Given the description of an element on the screen output the (x, y) to click on. 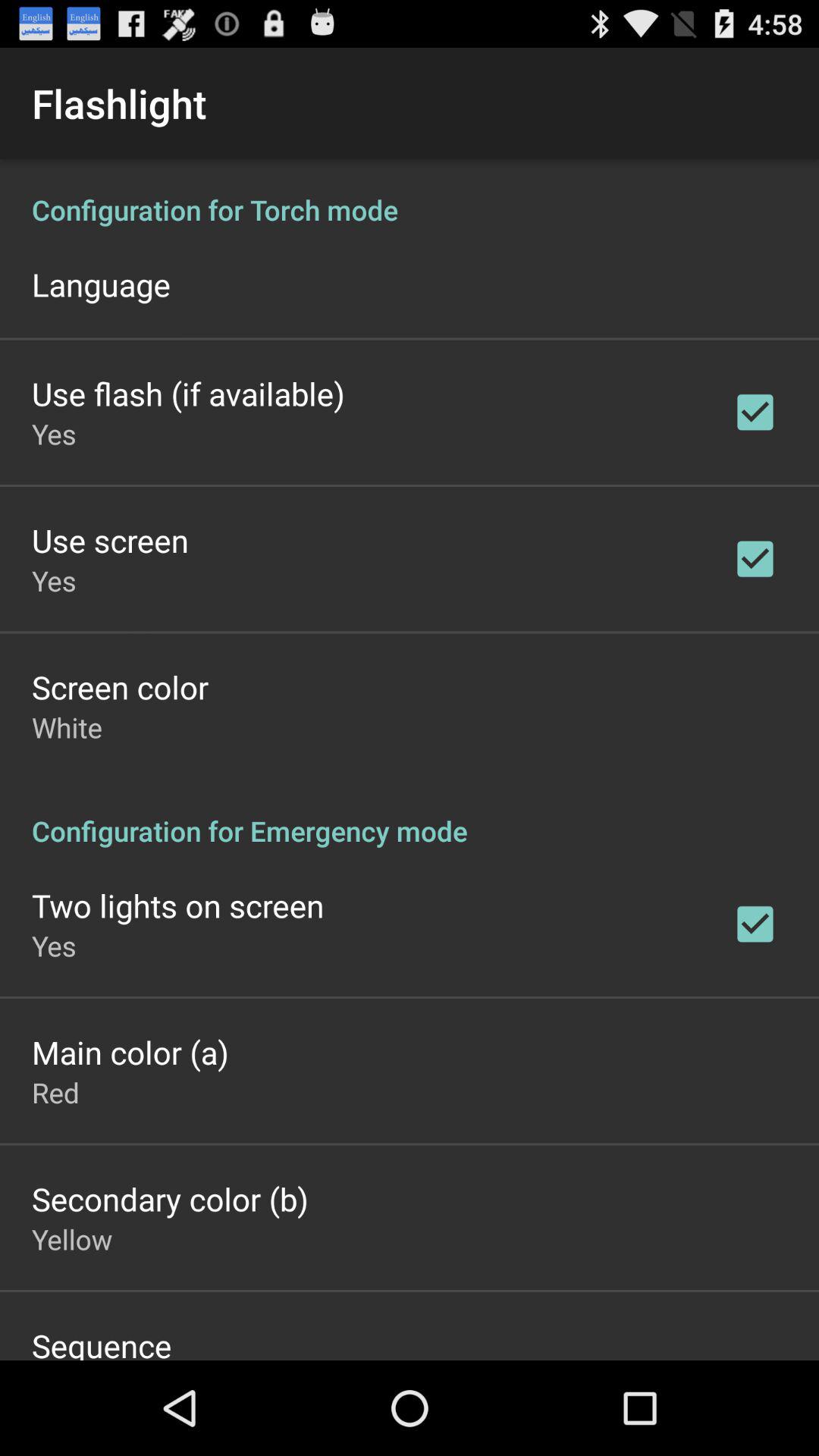
tap the language icon (100, 283)
